Given the description of an element on the screen output the (x, y) to click on. 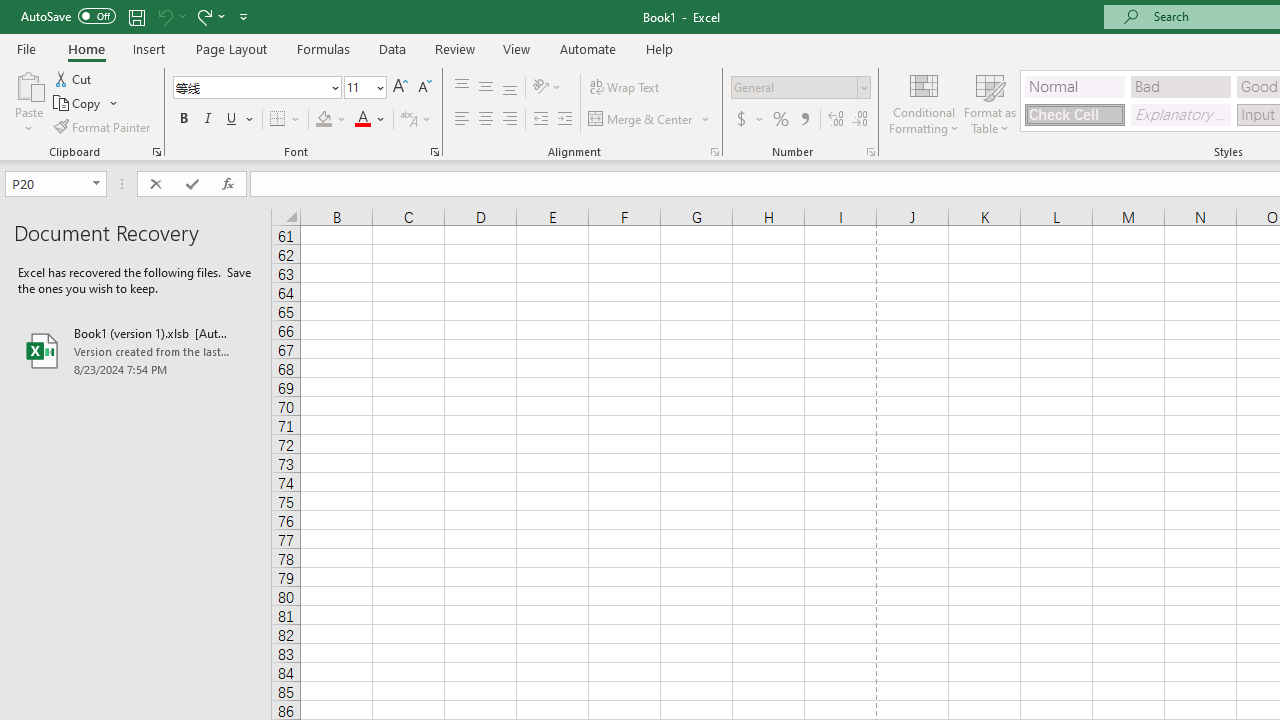
Format as Table (990, 102)
Increase Font Size (399, 87)
Bottom Border (278, 119)
Center (485, 119)
Align Right (509, 119)
Office Clipboard... (156, 151)
Align Left (461, 119)
Font Size (365, 87)
Explanatory Text (1180, 114)
